Given the description of an element on the screen output the (x, y) to click on. 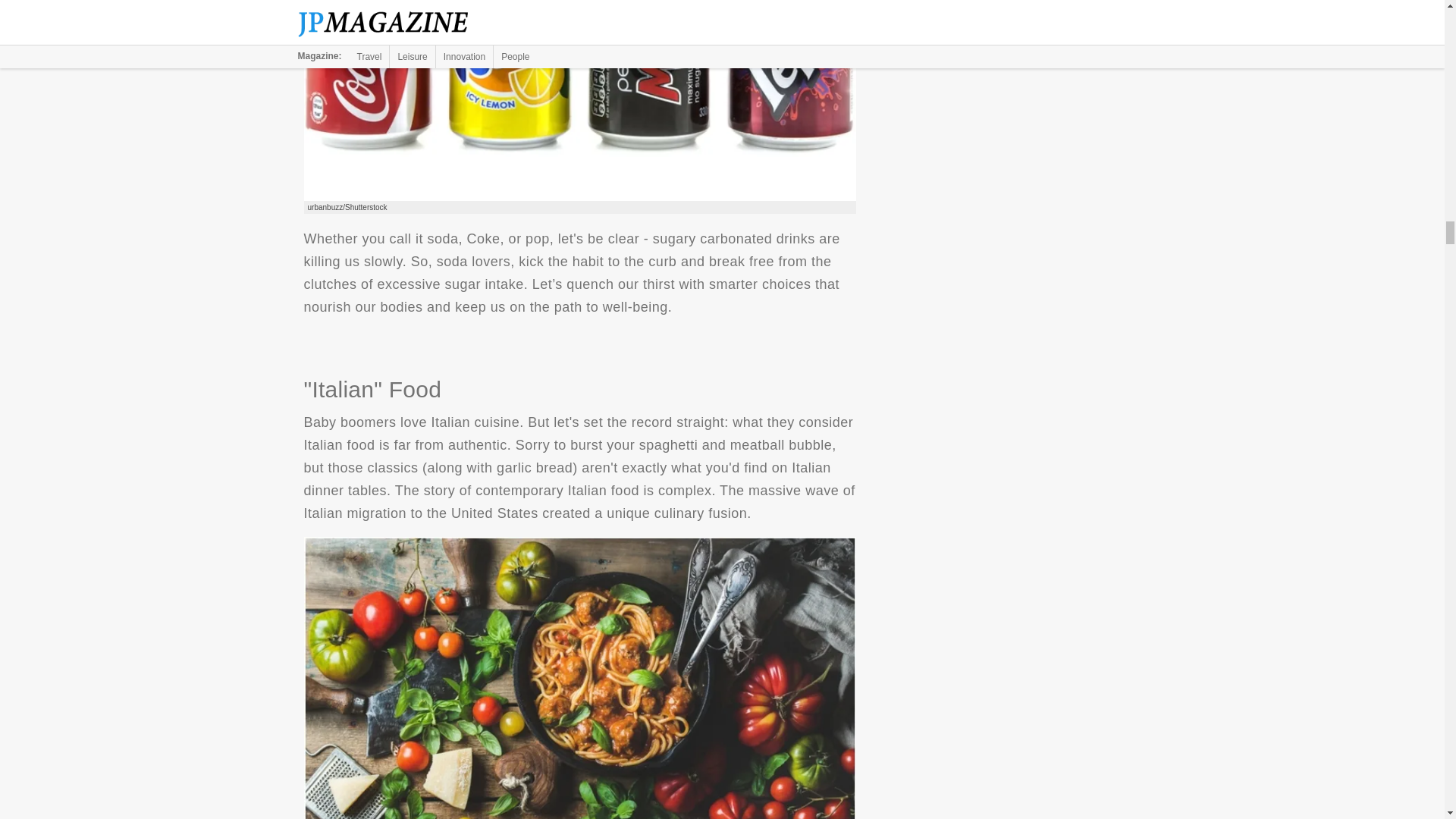
Soda (579, 100)
